Given the description of an element on the screen output the (x, y) to click on. 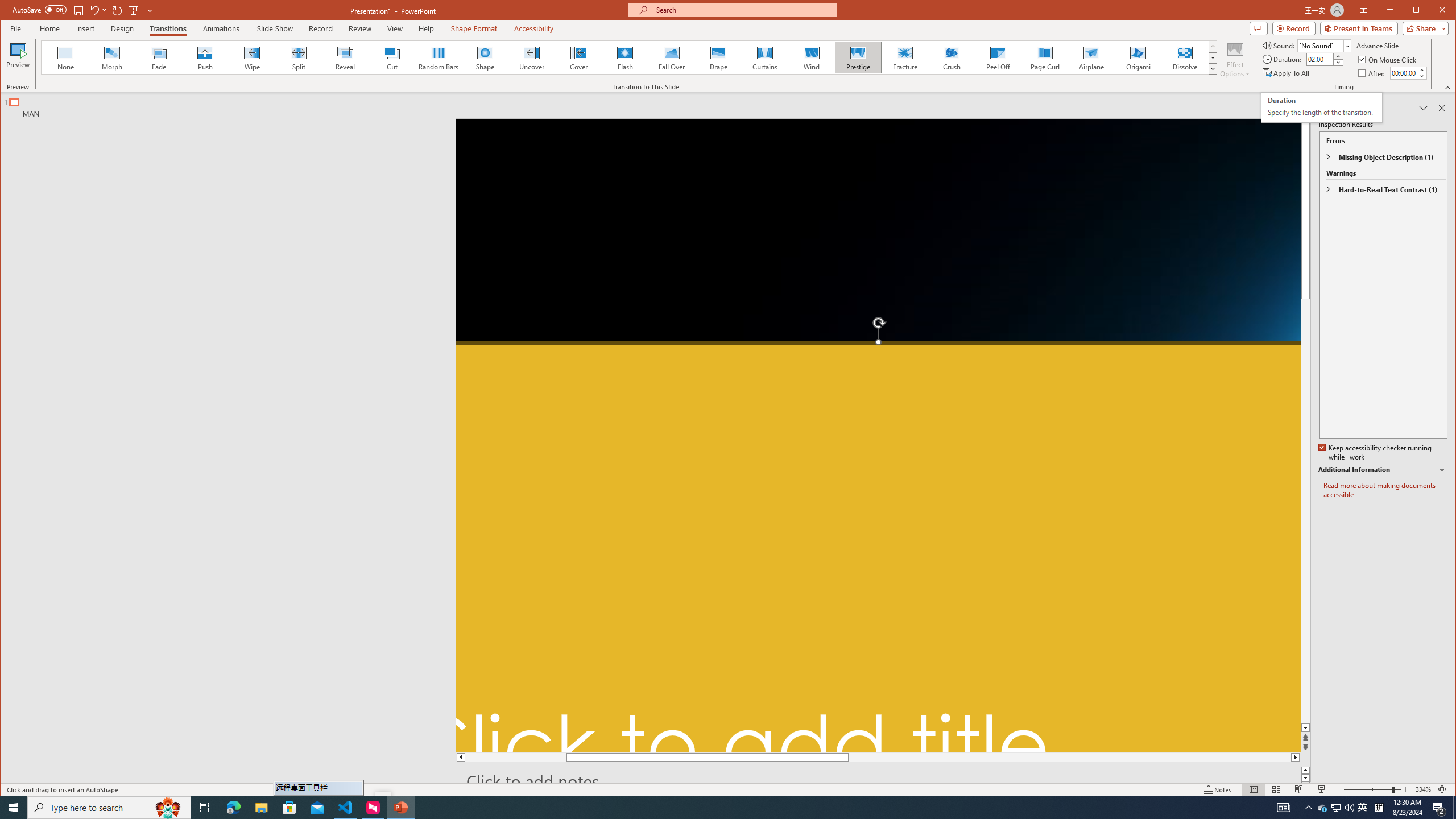
Flash (624, 57)
On Mouse Click (1387, 59)
Push (205, 57)
Sound (1324, 45)
Transition Effects (1212, 68)
